Given the description of an element on the screen output the (x, y) to click on. 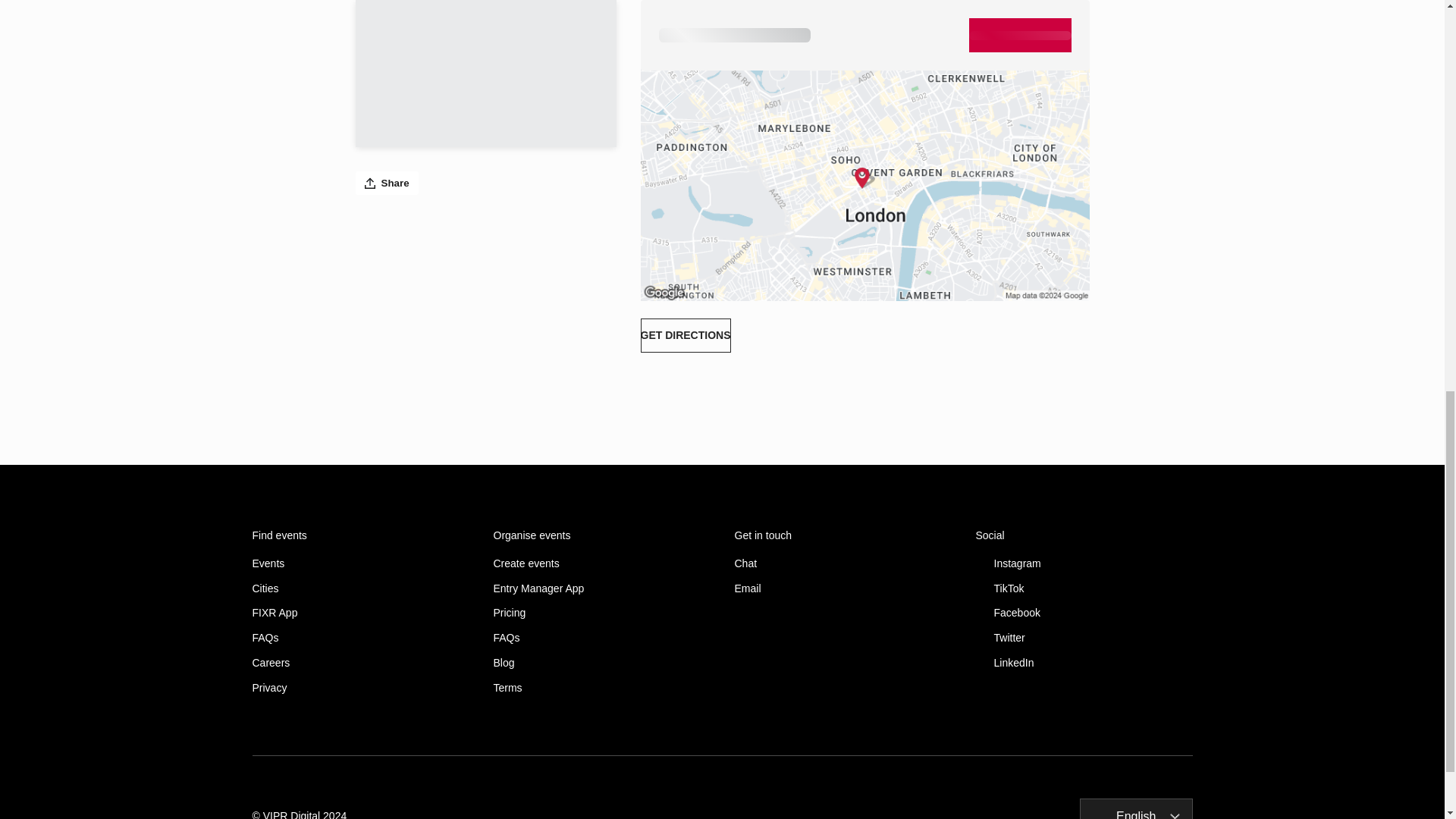
Careers (359, 662)
Twitter (1083, 637)
GET DIRECTIONS (685, 335)
FIXR App (359, 612)
Terms (601, 687)
Cities (359, 588)
Copy (853, 33)
Events (359, 563)
Pricing (601, 612)
LinkedIn (1083, 662)
Privacy (359, 687)
Email (841, 588)
TikTok (1083, 588)
FAQs (601, 637)
Instagram (1083, 563)
